Given the description of an element on the screen output the (x, y) to click on. 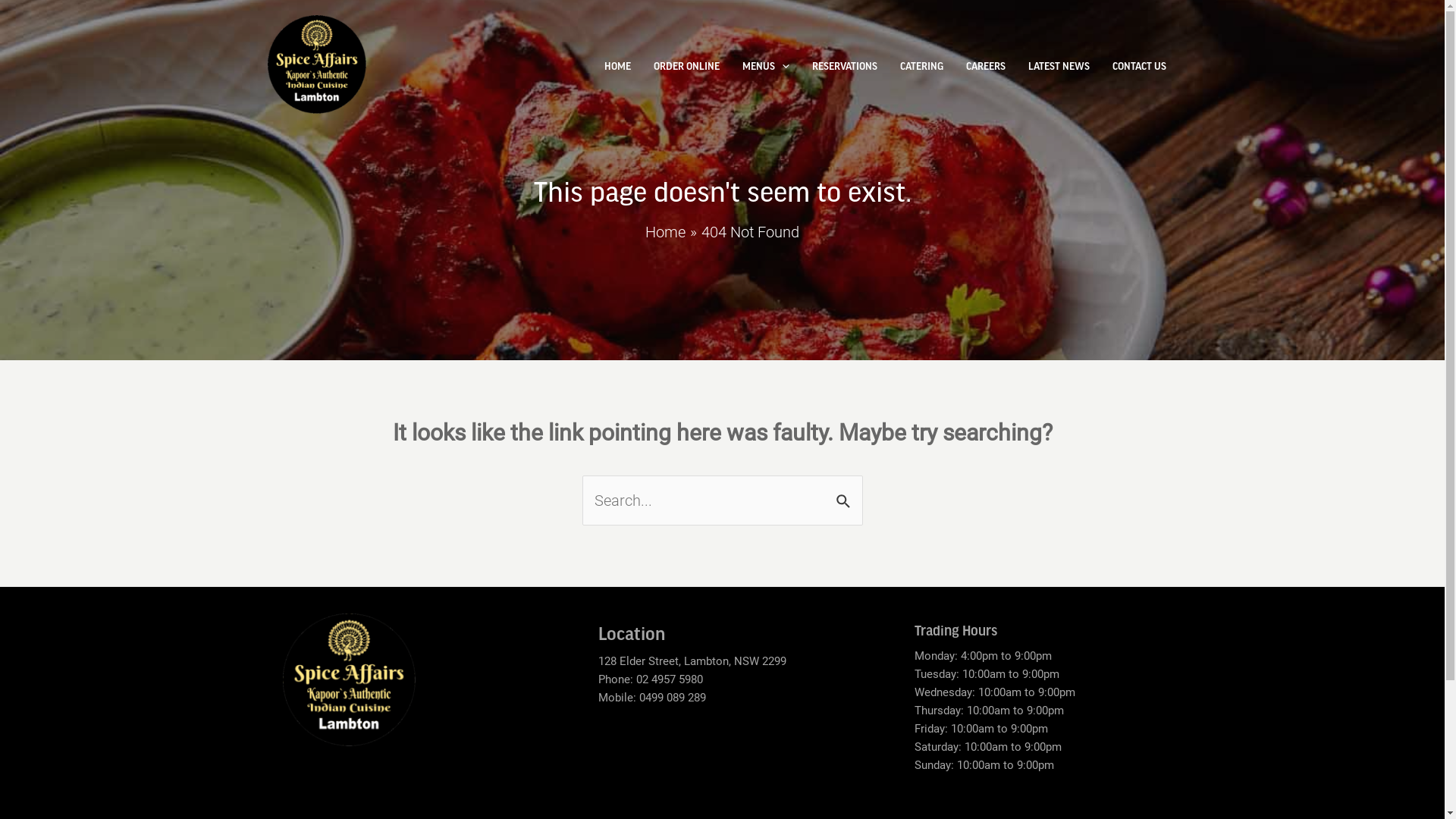
Search Element type: text (845, 492)
MENUS Element type: text (765, 65)
CAREERS Element type: text (984, 65)
CATERING Element type: text (921, 65)
LATEST NEWS Element type: text (1058, 65)
0499 089 289 Element type: text (672, 697)
CONTACT US Element type: text (1139, 65)
02 4957 5980 Element type: text (669, 679)
ORDER ONLINE Element type: text (685, 65)
RESERVATIONS Element type: text (844, 65)
Home Element type: text (665, 231)
HOME Element type: text (617, 65)
